Given the description of an element on the screen output the (x, y) to click on. 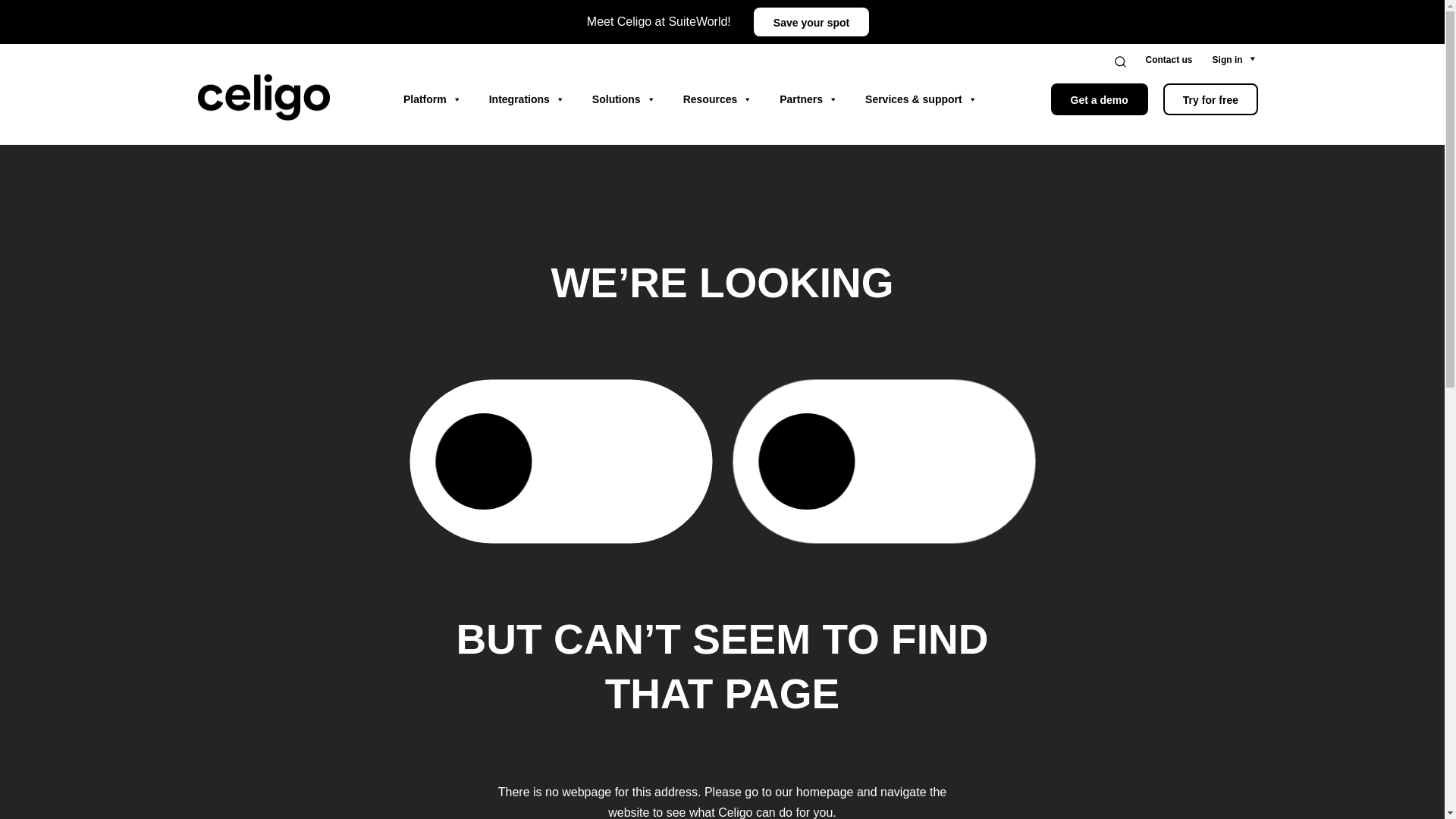
Sign in (1227, 59)
Platform (433, 99)
Save your spot (811, 21)
Integrations (527, 99)
Contact us (1168, 59)
Solutions (623, 99)
Search (1129, 61)
